Given the description of an element on the screen output the (x, y) to click on. 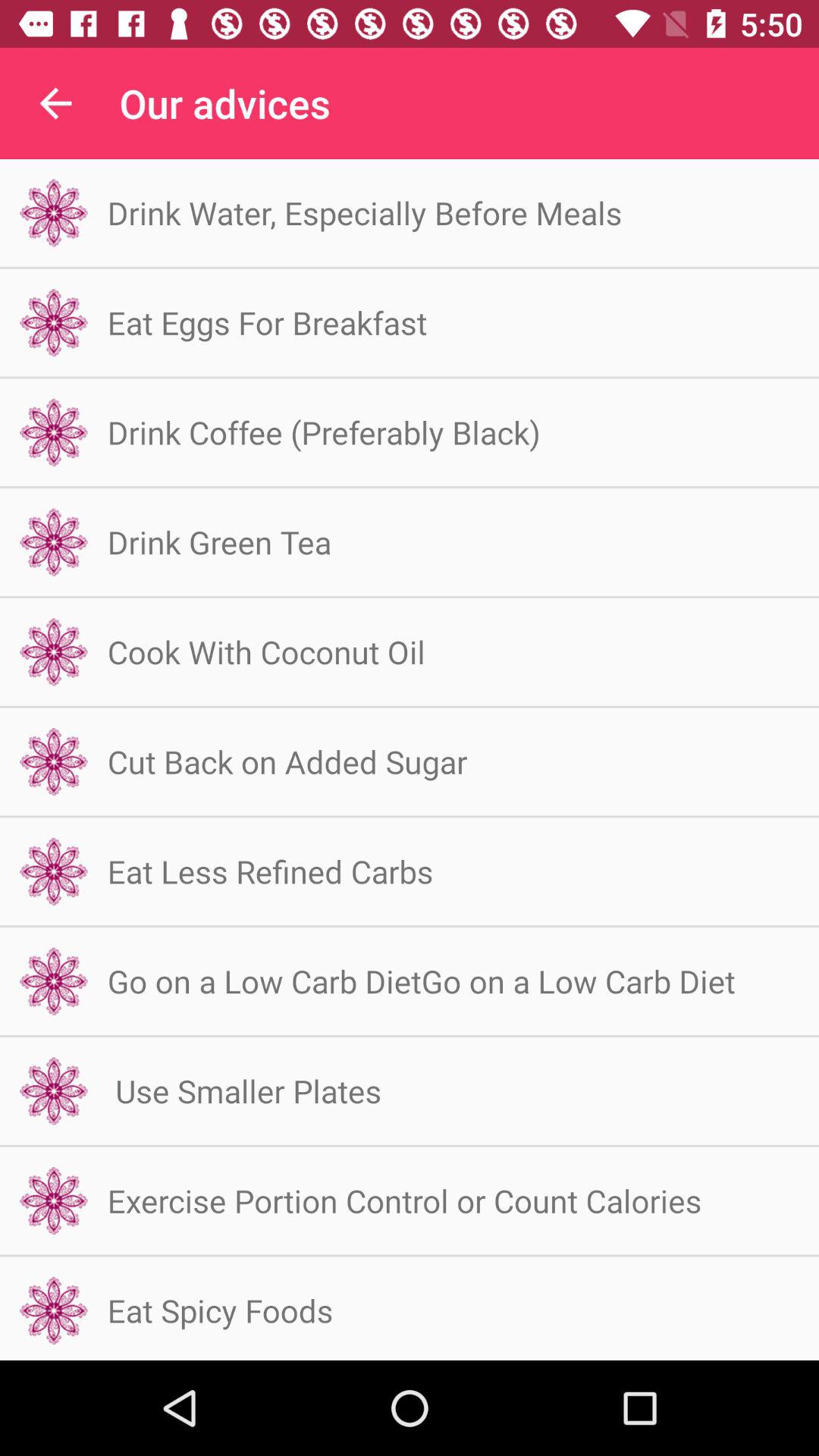
scroll to drink water especially icon (364, 212)
